Given the description of an element on the screen output the (x, y) to click on. 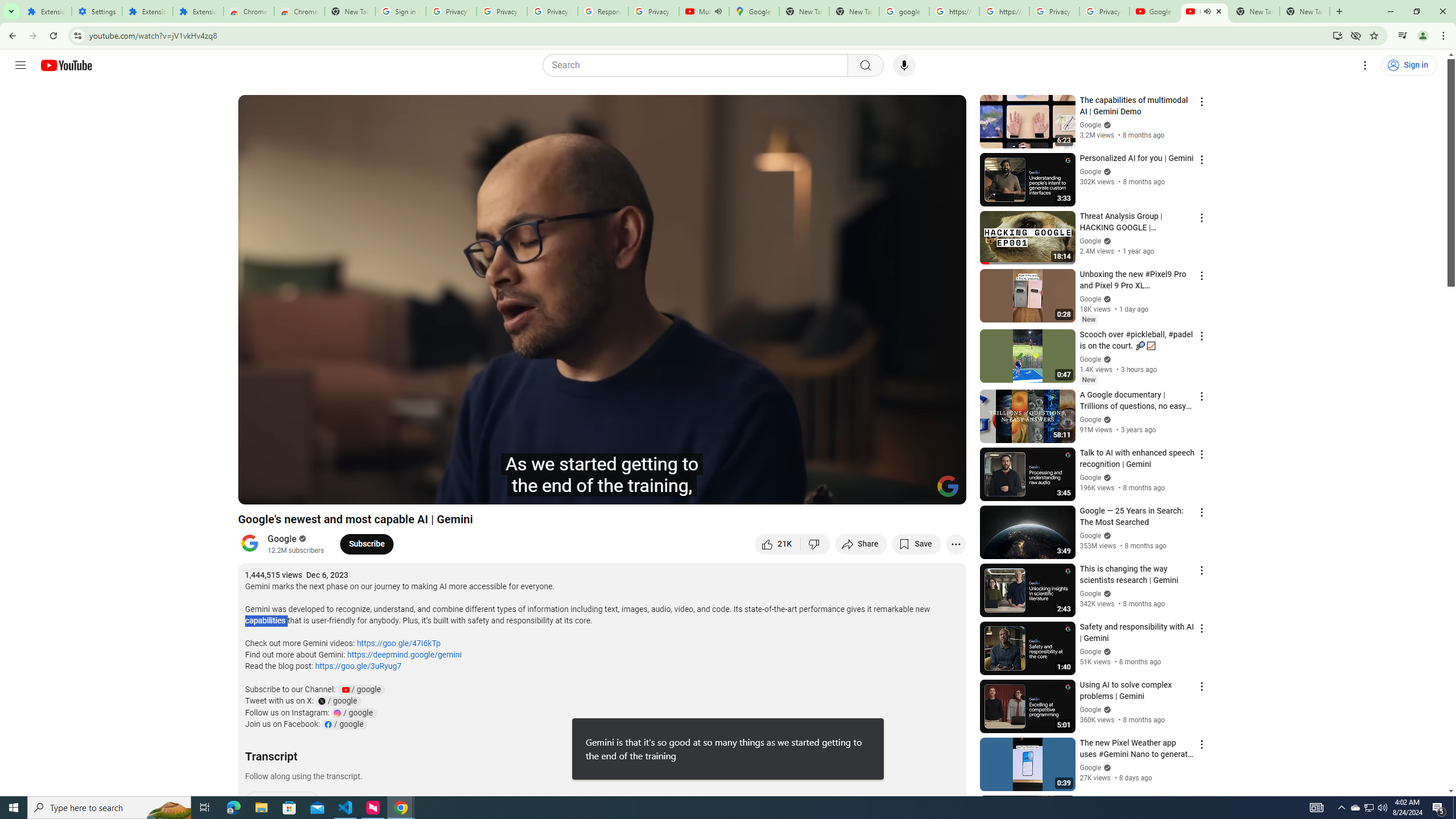
Chrome Web Store (248, 11)
Subscribe to Google. (366, 543)
Mute keyboard shortcut m (312, 490)
Facebook Channel Link: Google (343, 724)
New Tab (1304, 11)
Show transcript (281, 801)
Google (282, 538)
Verified (1106, 767)
Full screen (f) (945, 490)
https://scholar.google.com/ (954, 11)
